Given the description of an element on the screen output the (x, y) to click on. 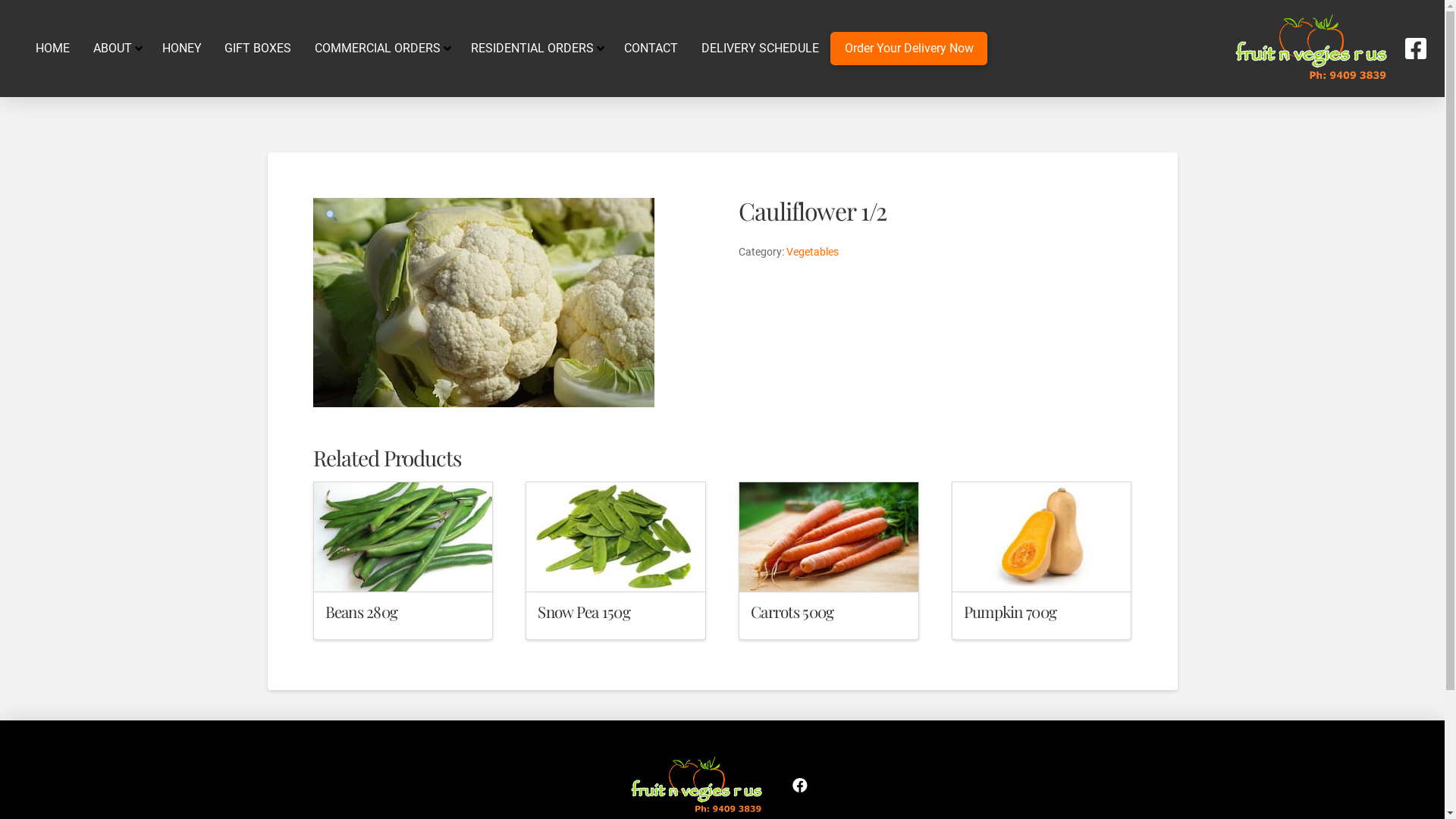
Carrots 500g Element type: text (791, 611)
Snow Pea 150g Element type: text (583, 611)
Order Your Delivery Now Element type: text (908, 48)
RESIDENTIAL ORDERS Element type: text (535, 48)
Vegetables Element type: text (812, 251)
CONTACT Element type: text (650, 48)
DELIVERY SCHEDULE Element type: text (760, 48)
HONEY Element type: text (181, 48)
cauliflower Element type: hover (482, 302)
GIFT BOXES Element type: text (257, 48)
Beans 280g Element type: text (360, 611)
COMMERCIAL ORDERS Element type: text (381, 48)
HOME Element type: text (52, 48)
Pumpkin 700g Element type: text (1009, 611)
ABOUT Element type: text (115, 48)
